Given the description of an element on the screen output the (x, y) to click on. 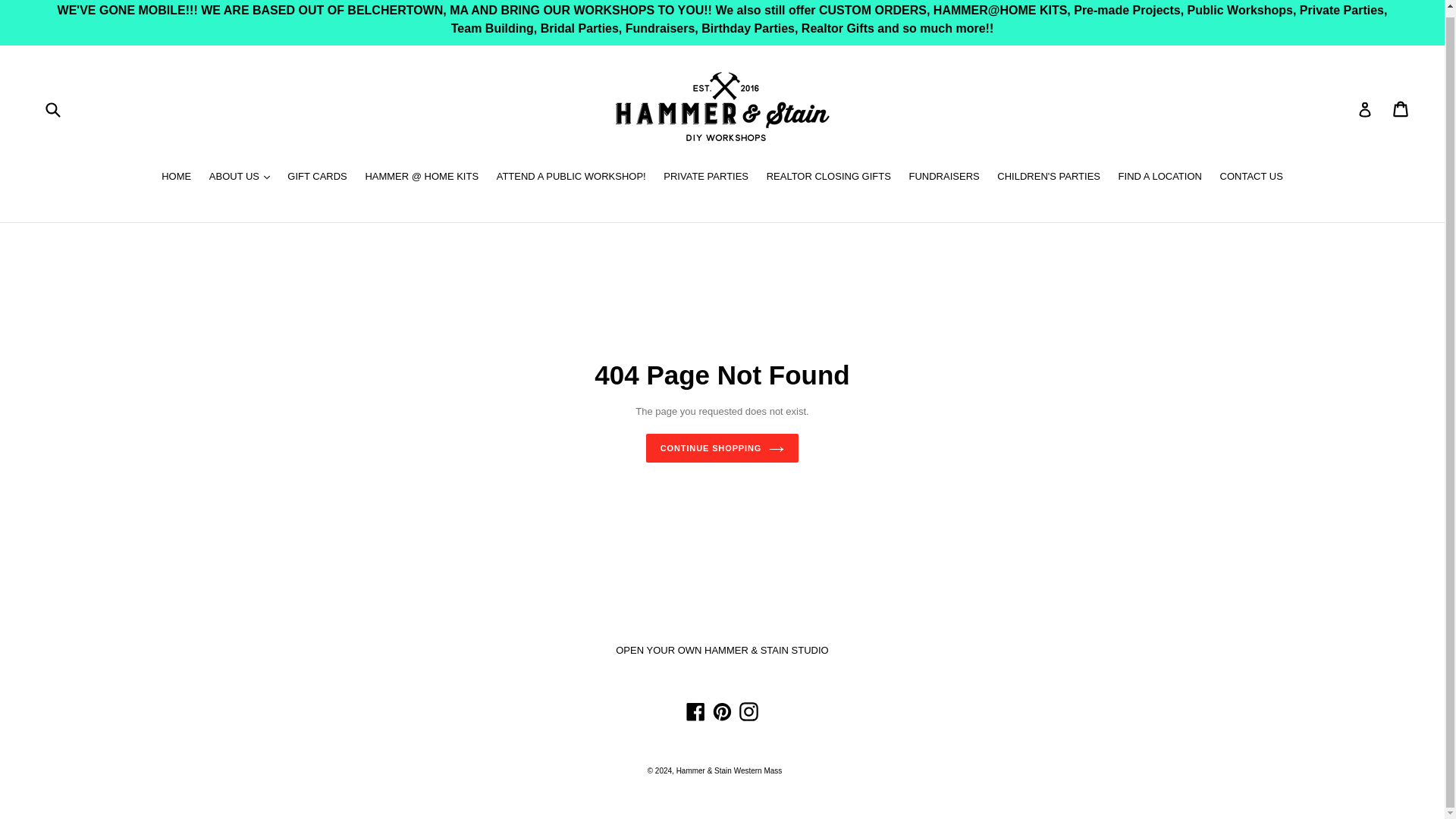
CHILDREN'S PARTIES (1049, 177)
FUNDRAISERS (944, 177)
FIND A LOCATION (1159, 177)
Facebook (695, 711)
CONTINUE SHOPPING (722, 448)
REALTOR CLOSING GIFTS (828, 177)
HOME (176, 177)
GIFT CARDS (317, 177)
CONTACT US (1251, 177)
PRIVATE PARTIES (705, 177)
